Given the description of an element on the screen output the (x, y) to click on. 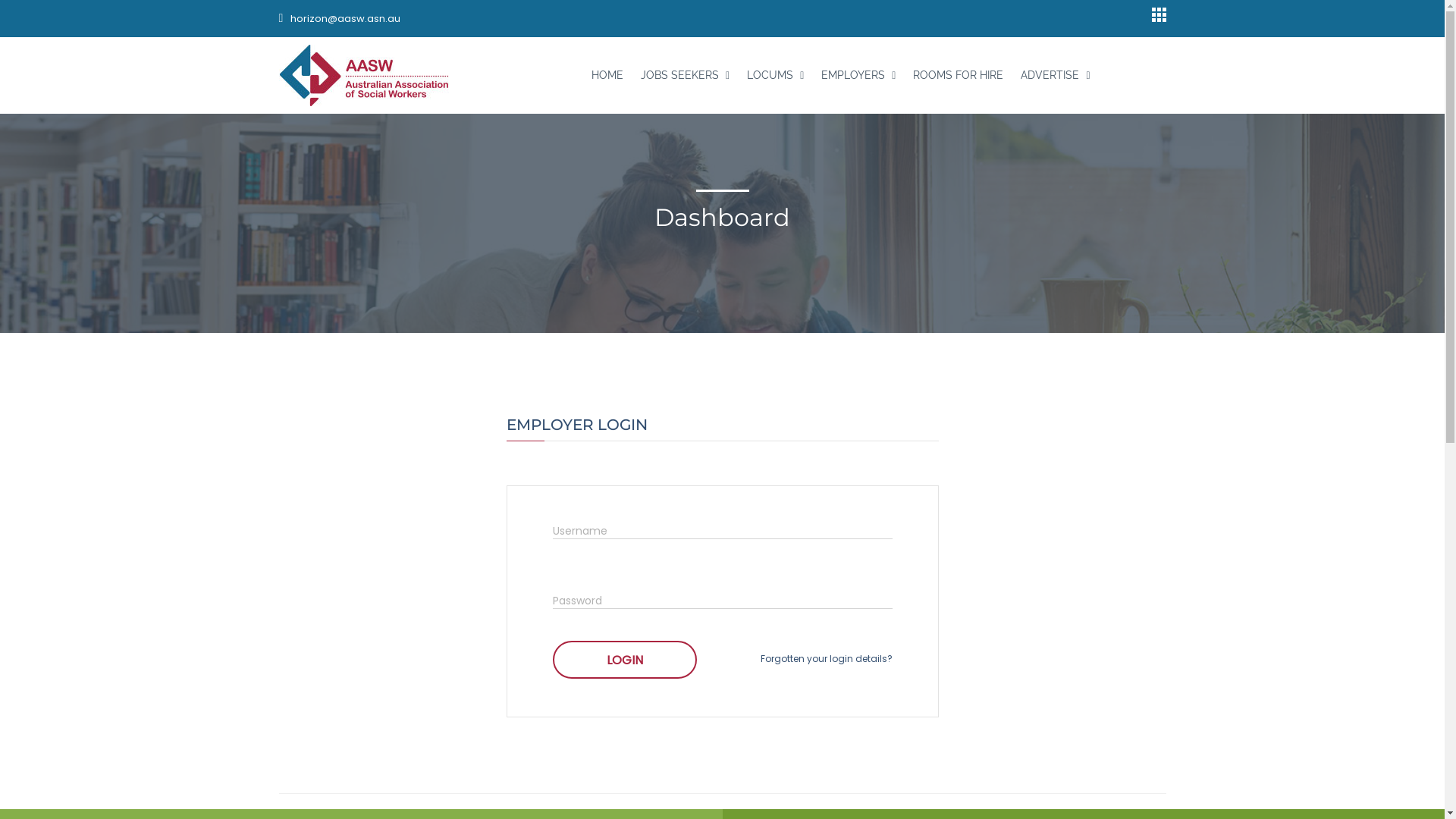
horizon@aasw.asn.au Element type: text (340, 18)
Forgotten your login details? Element type: text (825, 658)
EMPLOYERS Element type: text (858, 75)
HOME Element type: text (607, 75)
JOBS SEEKERS Element type: text (684, 75)
ADVERTISE Element type: text (1054, 75)
ROOMS FOR HIRE Element type: text (958, 75)
LOCUMS Element type: text (774, 75)
LOGIN Element type: text (624, 659)
